Given the description of an element on the screen output the (x, y) to click on. 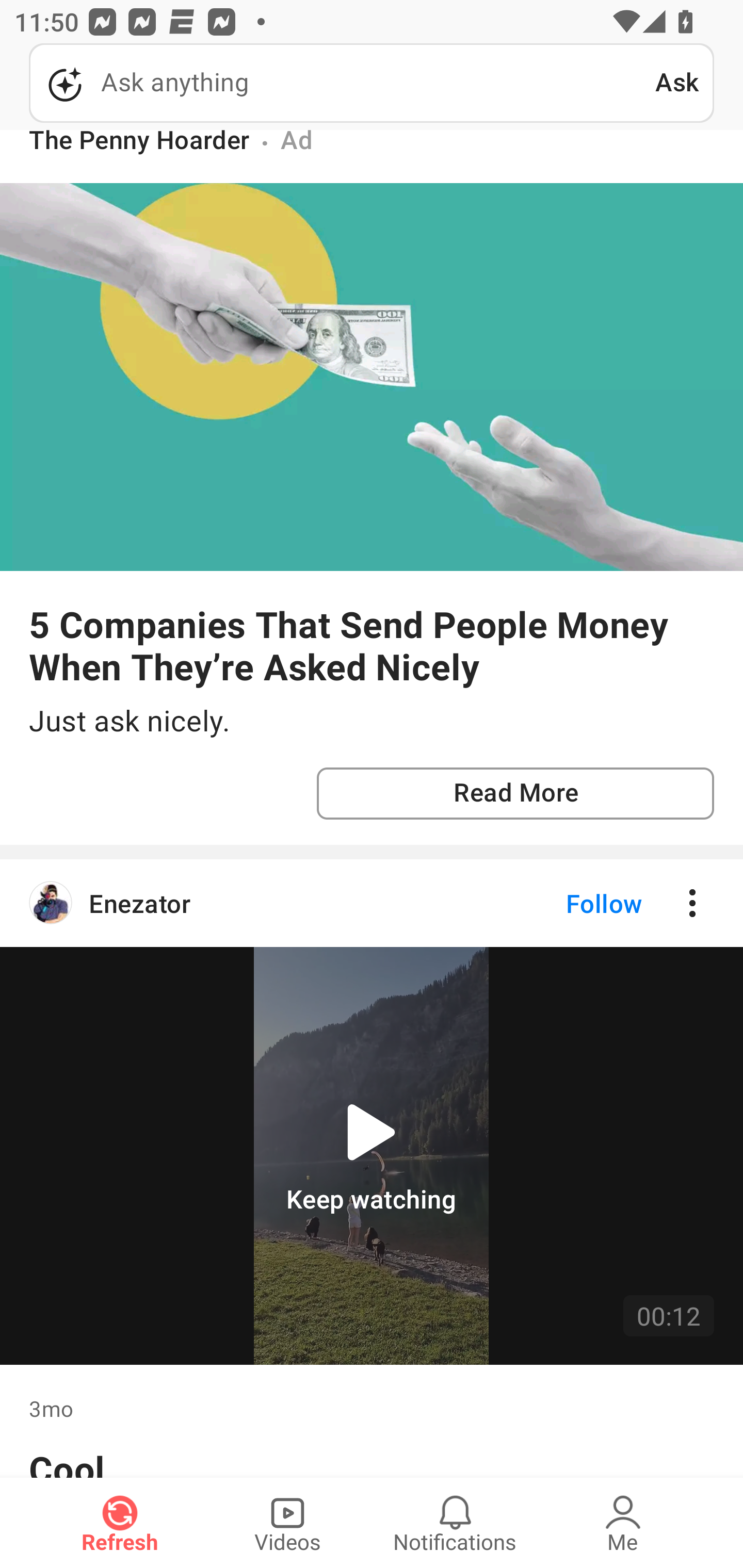
Ask anything (341, 82)
The Penny Hoarder (138, 143)
Just ask nicely. (371, 720)
Read More (515, 793)
Enezator Follow (371, 903)
Follow (569, 903)
Videos (287, 1522)
Notifications (455, 1522)
Me (622, 1522)
